Given the description of an element on the screen output the (x, y) to click on. 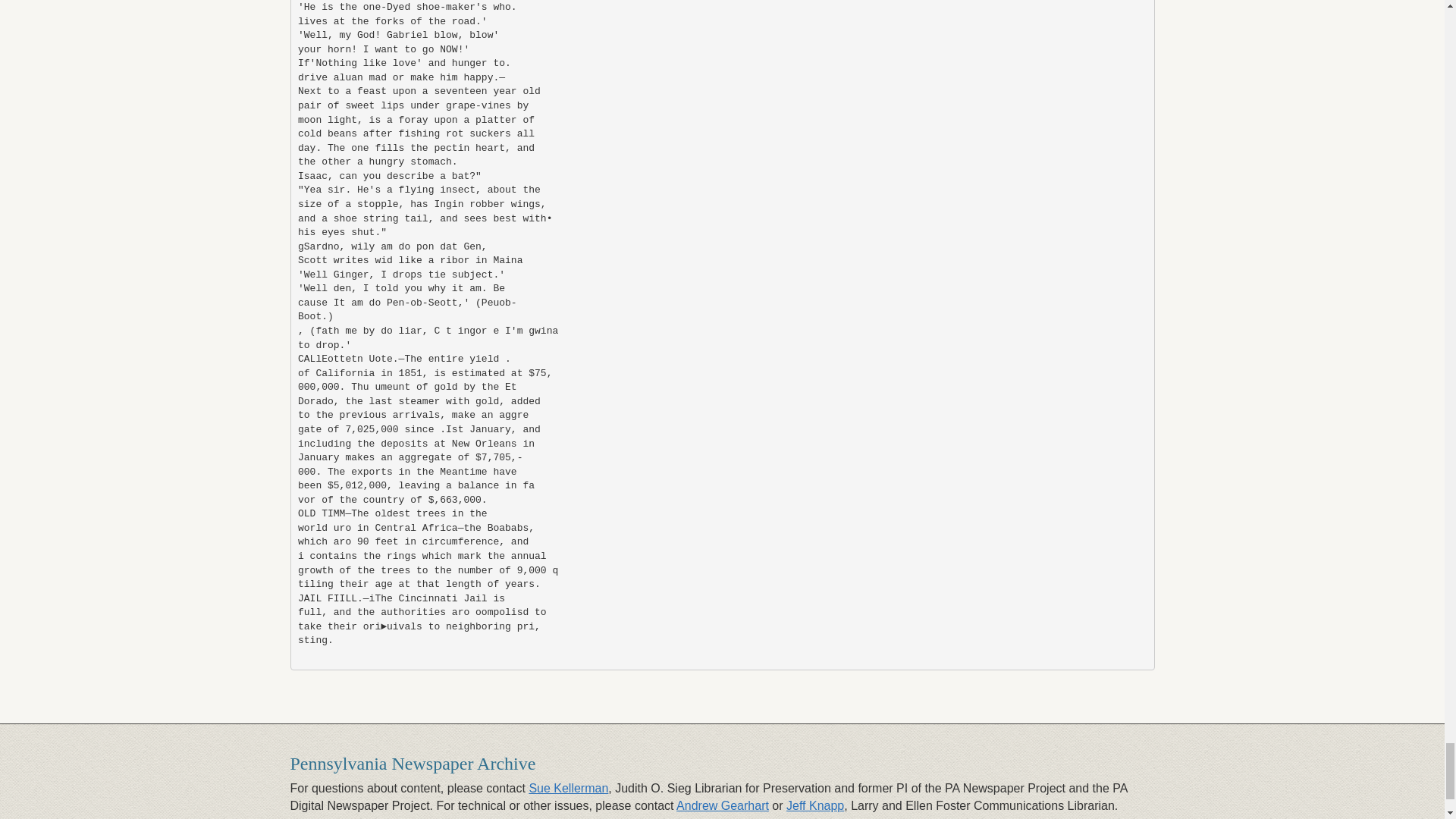
Jeff Knapp (815, 805)
Andrew Gearhart (722, 805)
Sue Kellerman (568, 788)
